Given the description of an element on the screen output the (x, y) to click on. 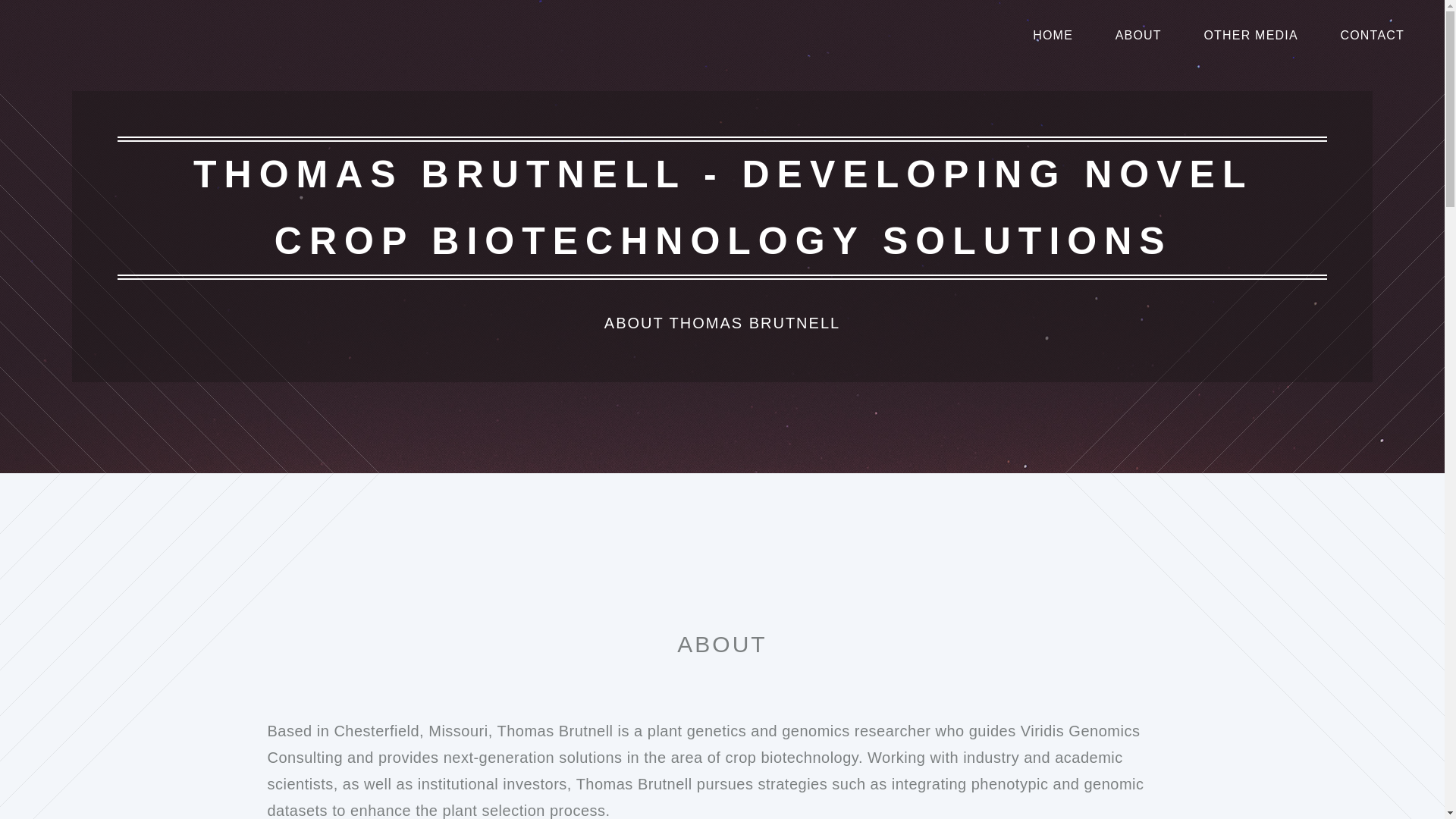
CONTACT (1371, 35)
CONTACT (1371, 35)
OTHER MEDIA (1250, 35)
HOME (1053, 35)
HOME (1053, 35)
OTHER MEDIA (1250, 35)
ABOUT (1138, 35)
ABOUT (1138, 35)
